Given the description of an element on the screen output the (x, y) to click on. 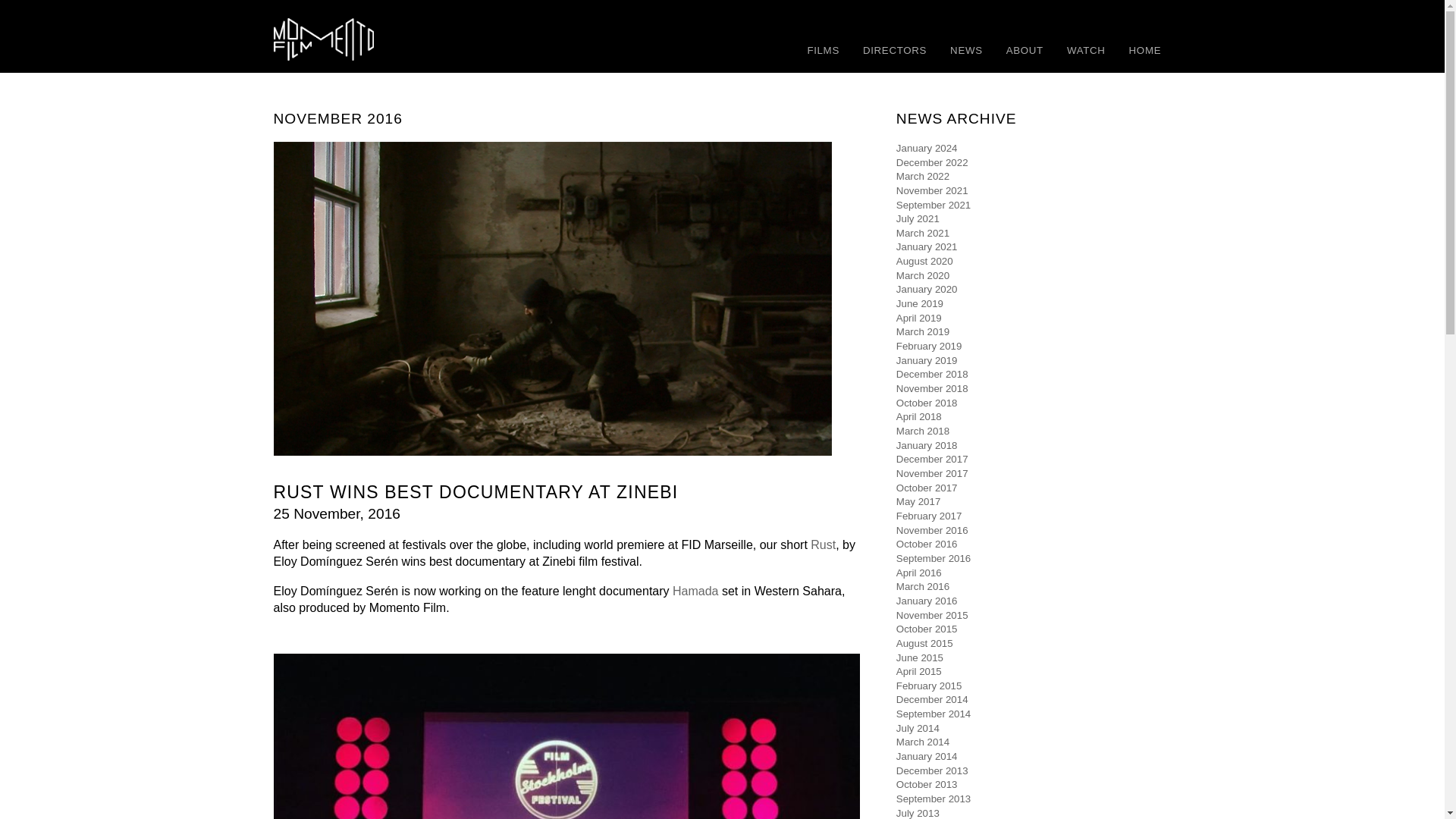
Rust (822, 544)
March 2020 (922, 275)
HOME (1145, 50)
March 2018 (922, 430)
March 2021 (922, 233)
Momentofilm (385, 39)
Hamada (694, 590)
NEWS (966, 50)
February 2019 (929, 346)
June 2019 (919, 303)
